Given the description of an element on the screen output the (x, y) to click on. 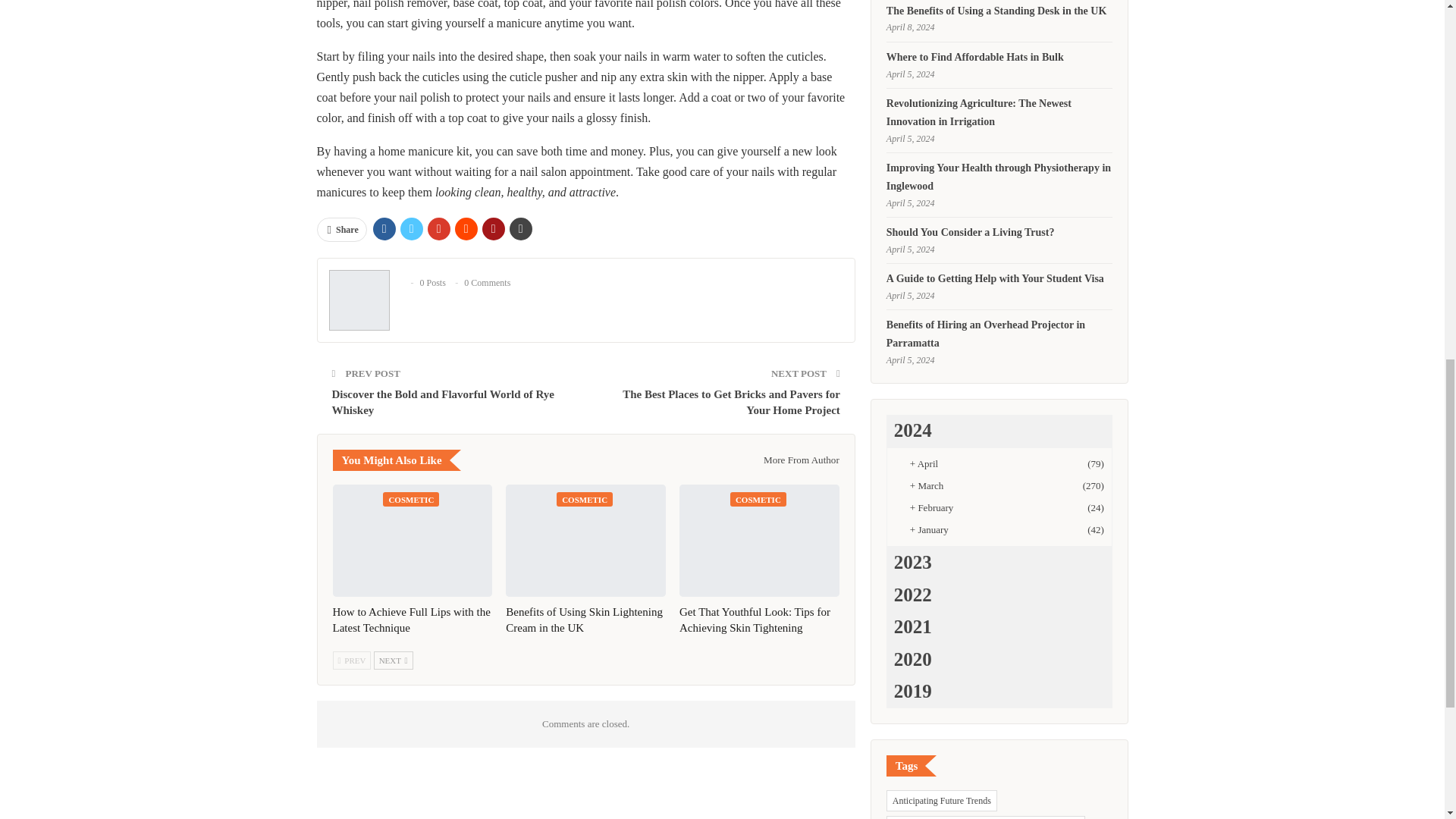
Benefits of Using Skin Lightening Cream in the UK (583, 619)
Get That Youthful Look: Tips for Achieving Skin Tightening (759, 540)
How to Achieve Full Lips with the Latest Technique (410, 619)
How to Achieve Full Lips with the Latest Technique (411, 540)
Previous (351, 660)
Benefits of Using Skin Lightening Cream in the UK (585, 540)
Get That Youthful Look: Tips for Achieving Skin Tightening (754, 619)
Next (393, 660)
